Given the description of an element on the screen output the (x, y) to click on. 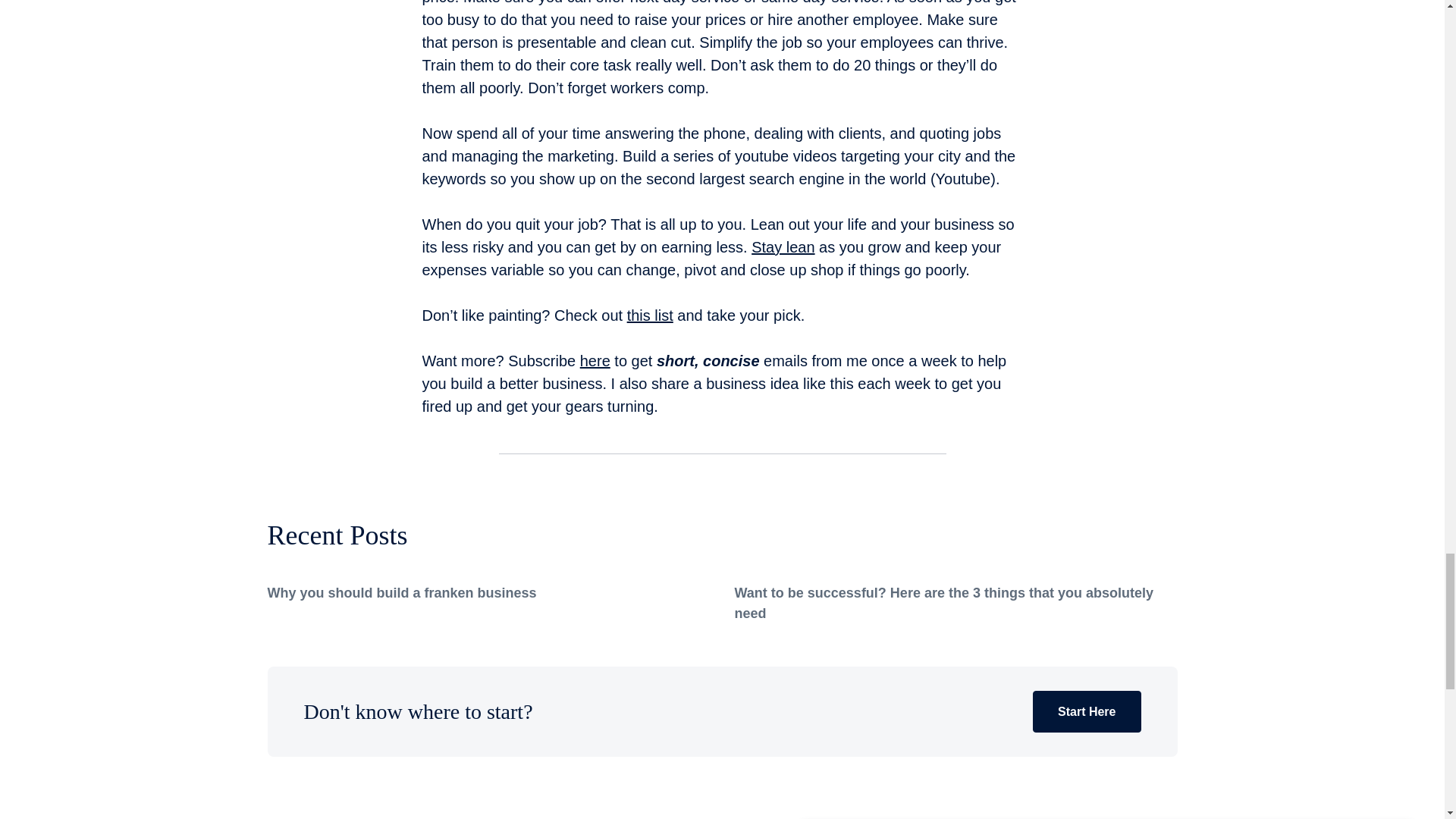
Stay lean (782, 247)
here (594, 360)
this list (649, 315)
